Given the description of an element on the screen output the (x, y) to click on. 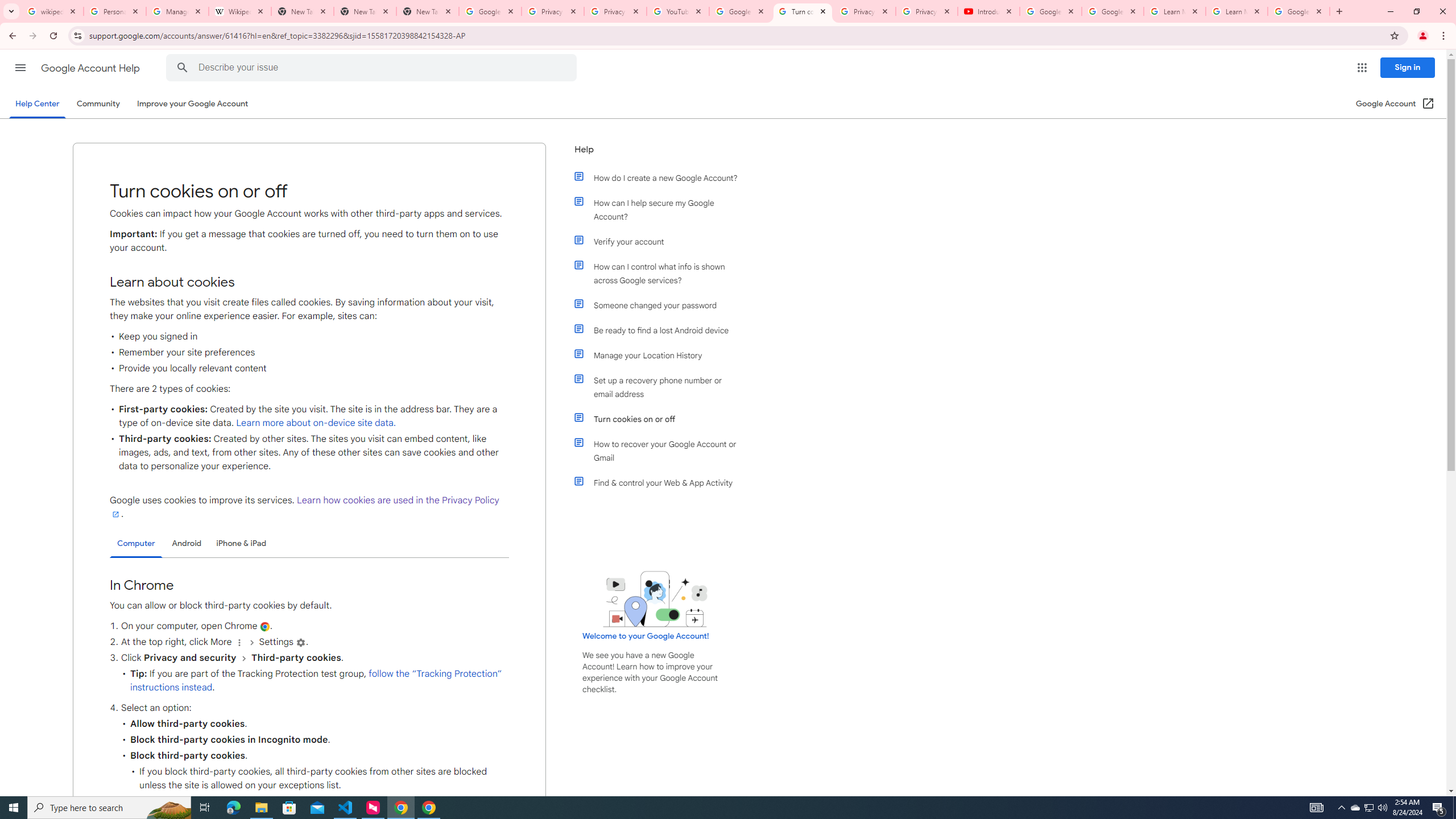
New Tab (427, 11)
iPhone & iPad (240, 542)
Google Account Help (740, 11)
Turn cookies on or off (661, 419)
New Tab (365, 11)
